Given the description of an element on the screen output the (x, y) to click on. 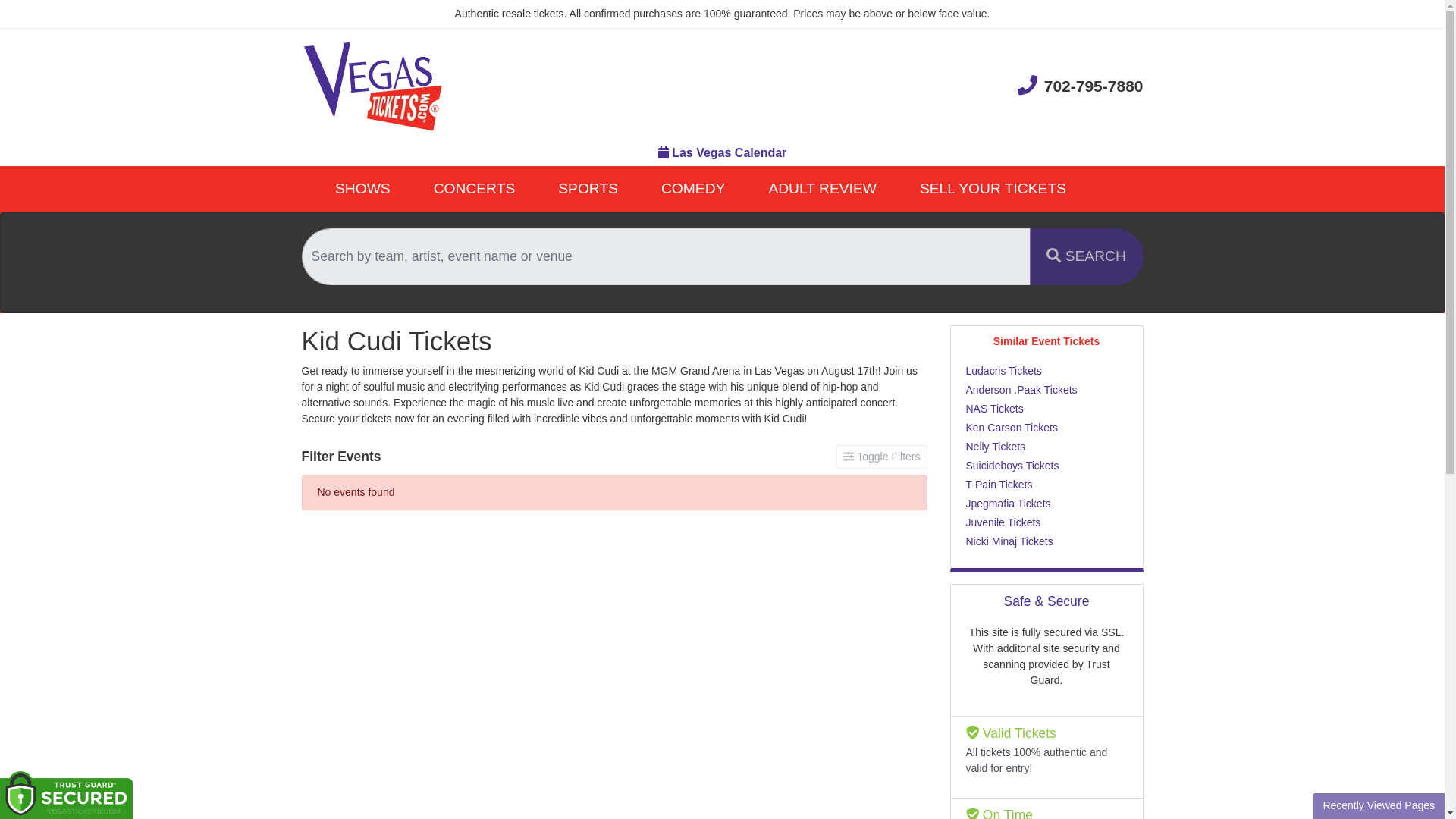
SPORTS (588, 189)
Toggle Filters (880, 456)
Ken Carson Tickets (1046, 427)
Suicideboys Tickets (1046, 465)
NAS Tickets (1046, 408)
SEARCH (1085, 256)
702-795-7880 (1079, 85)
SELL YOUR TICKETS (992, 189)
ADULT REVIEW (822, 189)
SHOWS (363, 189)
T-Pain Tickets (1046, 484)
Anderson .Paak Tickets (1046, 390)
CONCERTS (474, 189)
Juvenile Tickets (1046, 522)
Ludacris Tickets (1046, 371)
